Given the description of an element on the screen output the (x, y) to click on. 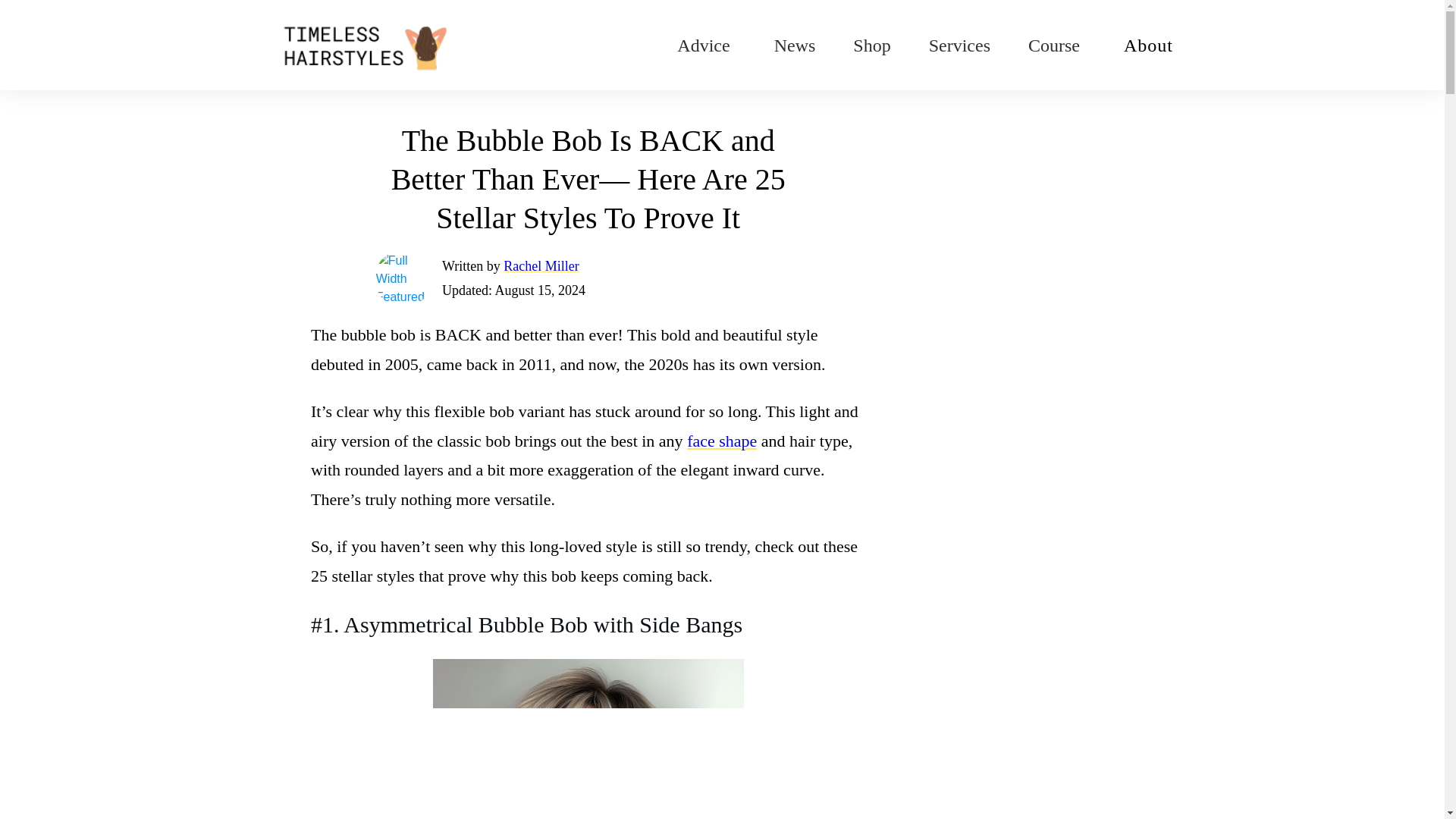
About (1148, 45)
face shape (722, 440)
News (794, 45)
Services (959, 45)
Rachel Miller (540, 265)
Shop (871, 45)
Course (1053, 45)
Advice (703, 45)
Full Width Featured Image with Sidebar (402, 278)
face shape (722, 440)
